Given the description of an element on the screen output the (x, y) to click on. 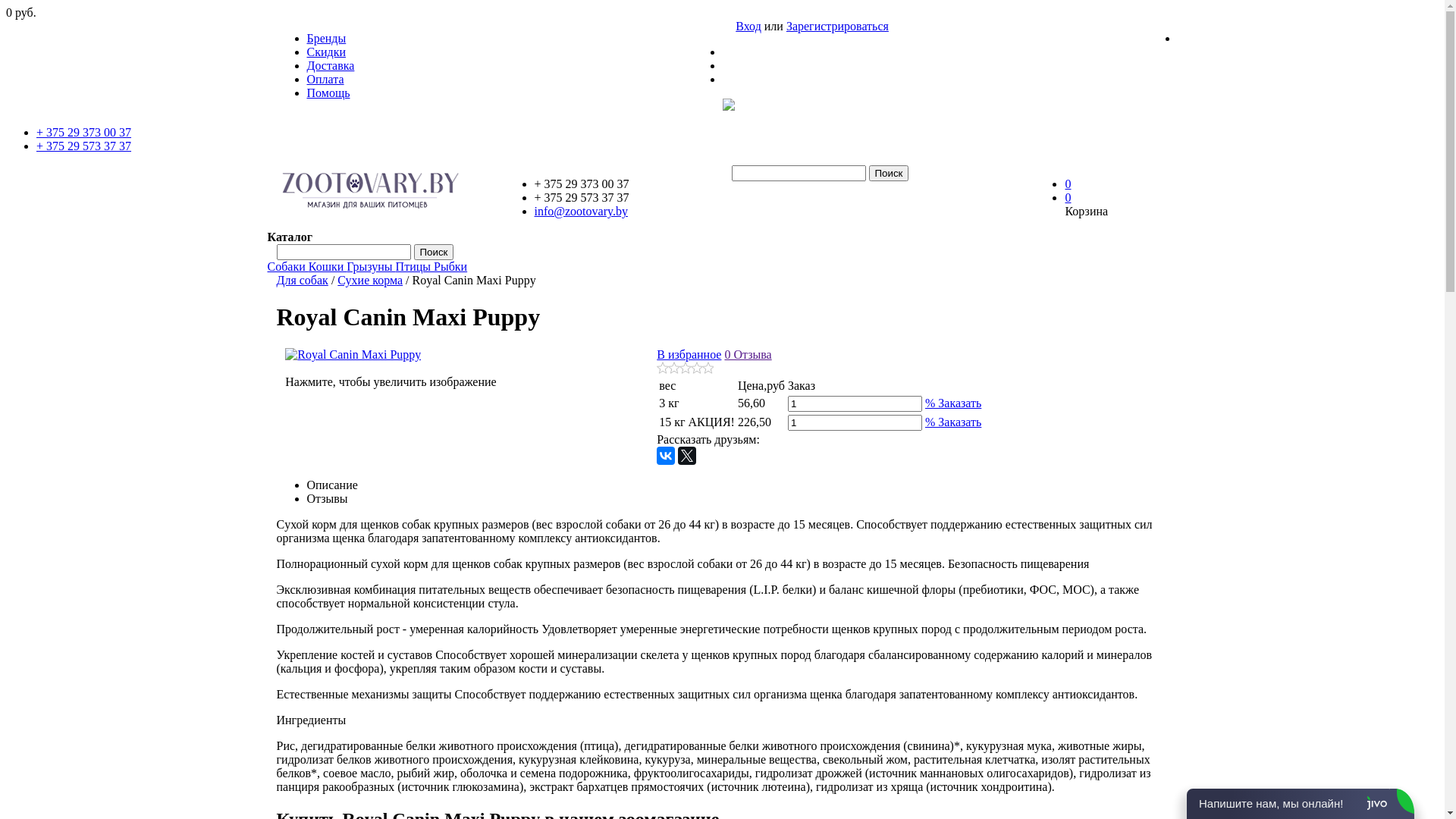
Twitter Element type: hover (686, 455)
info@zootovary.by Element type: text (580, 210)
0 Element type: text (1067, 183)
0 Element type: text (1067, 197)
+ 375 29 573 37 37 Element type: text (83, 145)
+ 375 29 373 00 37 Element type: text (83, 131)
